Given the description of an element on the screen output the (x, y) to click on. 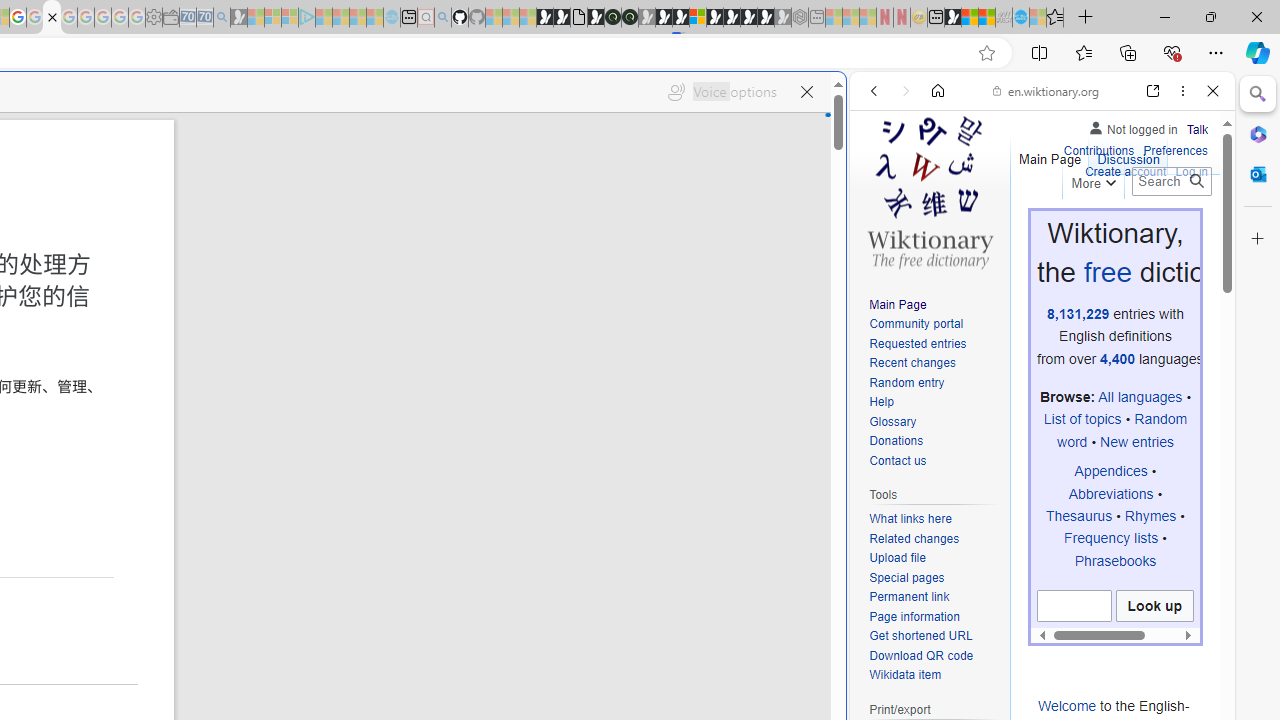
Cheap Car Rentals - Save70.com - Sleeping (204, 17)
New entries (1136, 441)
Microsoft account | Privacy - Sleeping (289, 17)
Download QR code (921, 655)
New tab - Sleeping (817, 17)
Search the web (1051, 137)
VIDEOS (1006, 228)
More (1092, 179)
Services - Maintenance | Sky Blue Bikes - Sky Blue Bikes (1020, 17)
This site scope (936, 180)
